Given the description of an element on the screen output the (x, y) to click on. 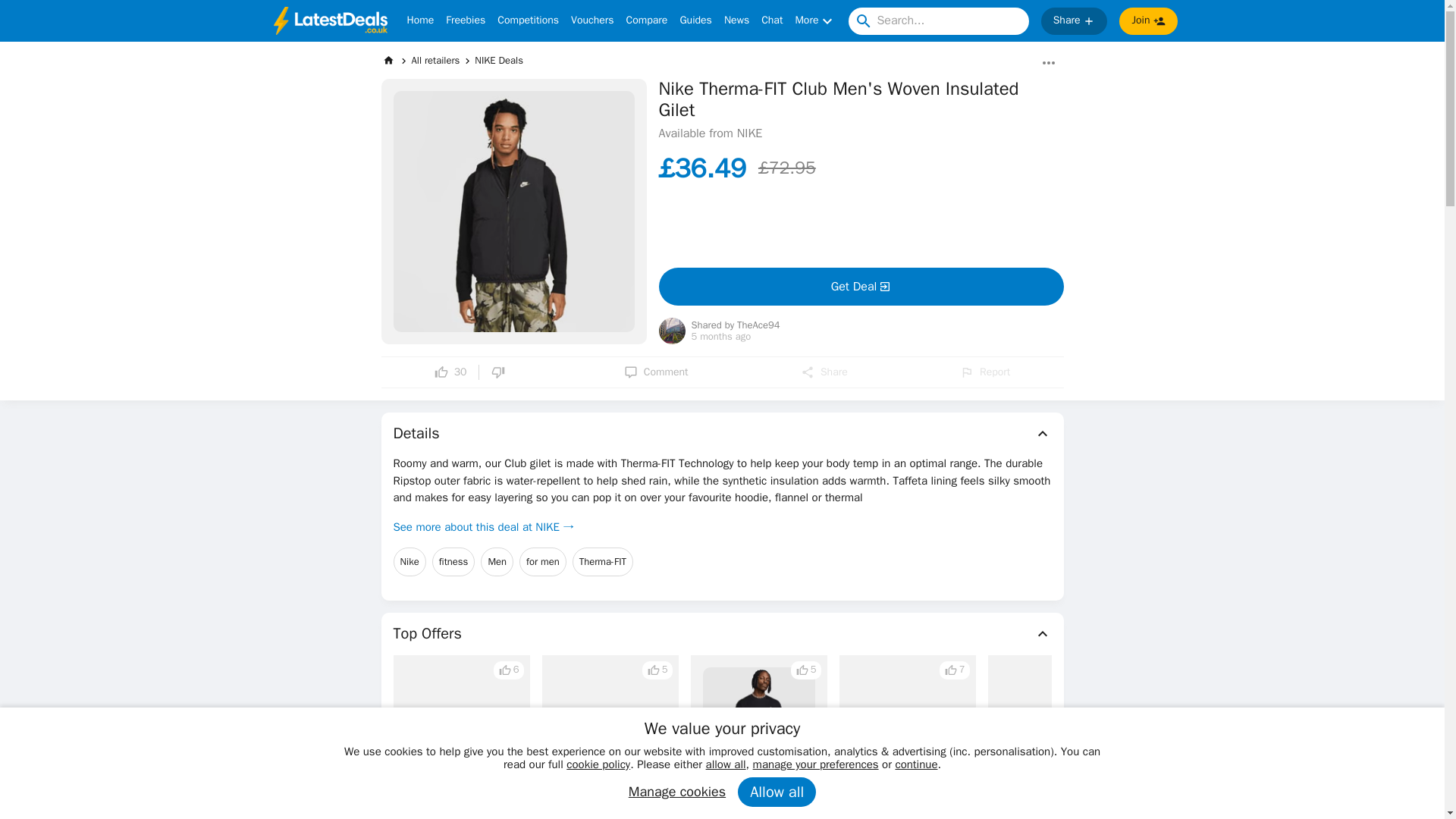
Share (1074, 21)
Report (984, 371)
Therma-FIT (602, 561)
Join (1147, 21)
Details (722, 434)
30 (450, 372)
Share (823, 371)
Competitions (528, 21)
Vouchers (591, 21)
Guides (695, 21)
Shared by TheAce94 (735, 325)
NIKE Deals (498, 60)
More (814, 21)
All retailers (435, 60)
for men (542, 561)
